Given the description of an element on the screen output the (x, y) to click on. 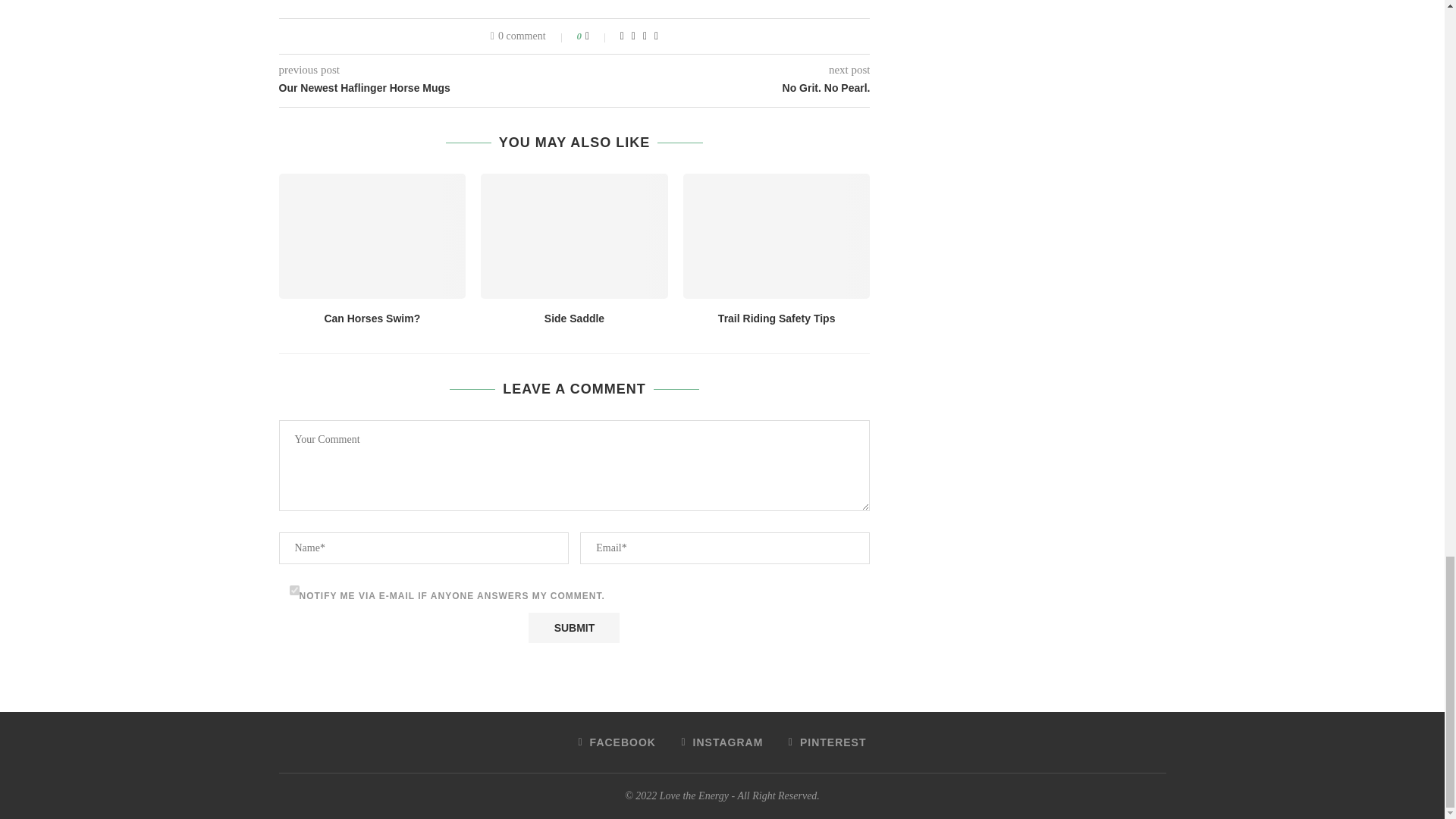
Like (597, 36)
on (294, 590)
Our Newest Haflinger Horse Mugs (427, 88)
Submit (574, 627)
Can Horses Swim? (372, 235)
Trail Riding Safety Tips (776, 235)
Side Saddle (574, 235)
